Given the description of an element on the screen output the (x, y) to click on. 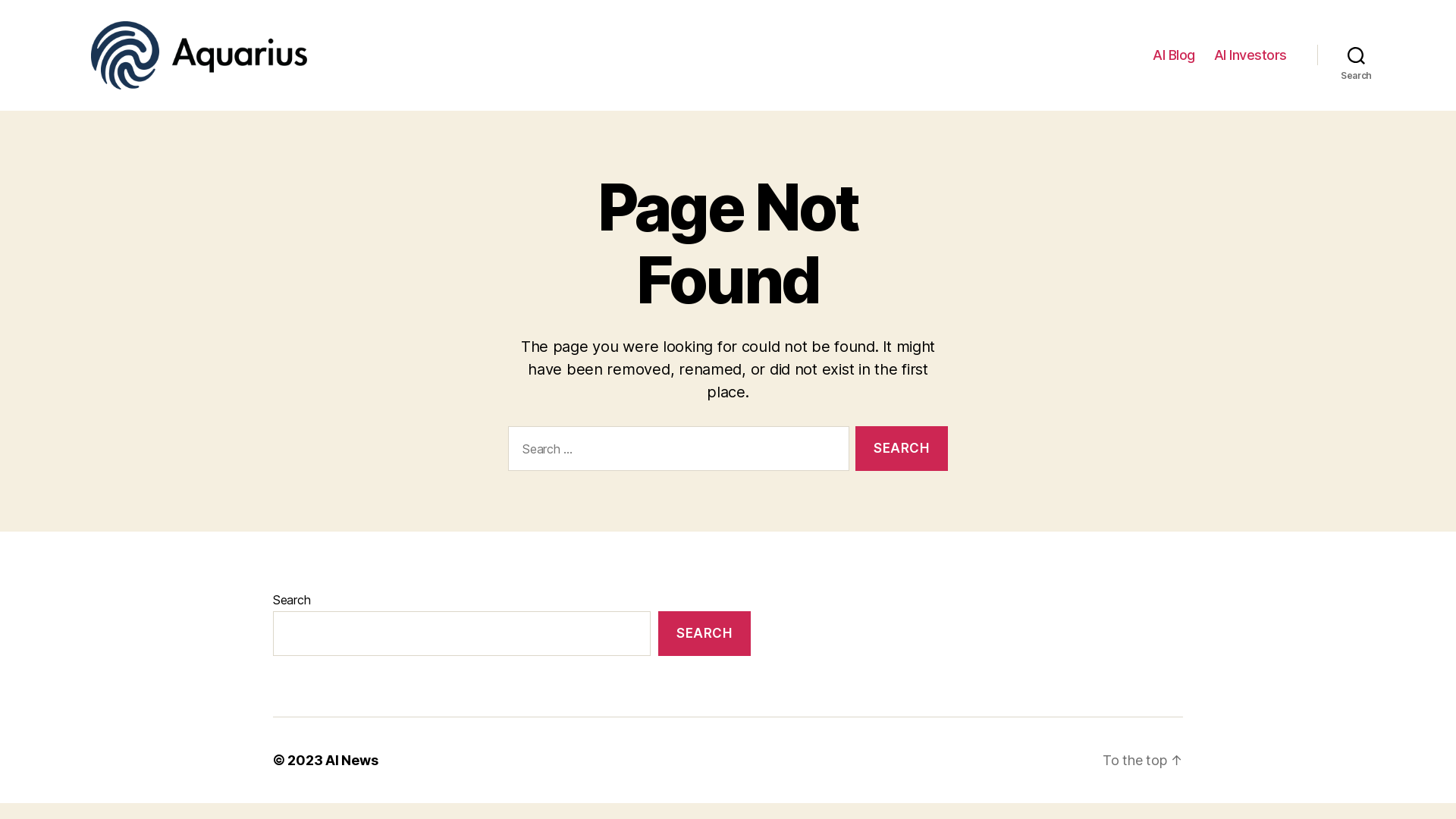
Search Element type: text (1356, 55)
AI Investors Element type: text (1250, 55)
SEARCH Element type: text (704, 633)
AI News Element type: text (351, 760)
Search Element type: text (901, 448)
AI Blog Element type: text (1173, 55)
